Given the description of an element on the screen output the (x, y) to click on. 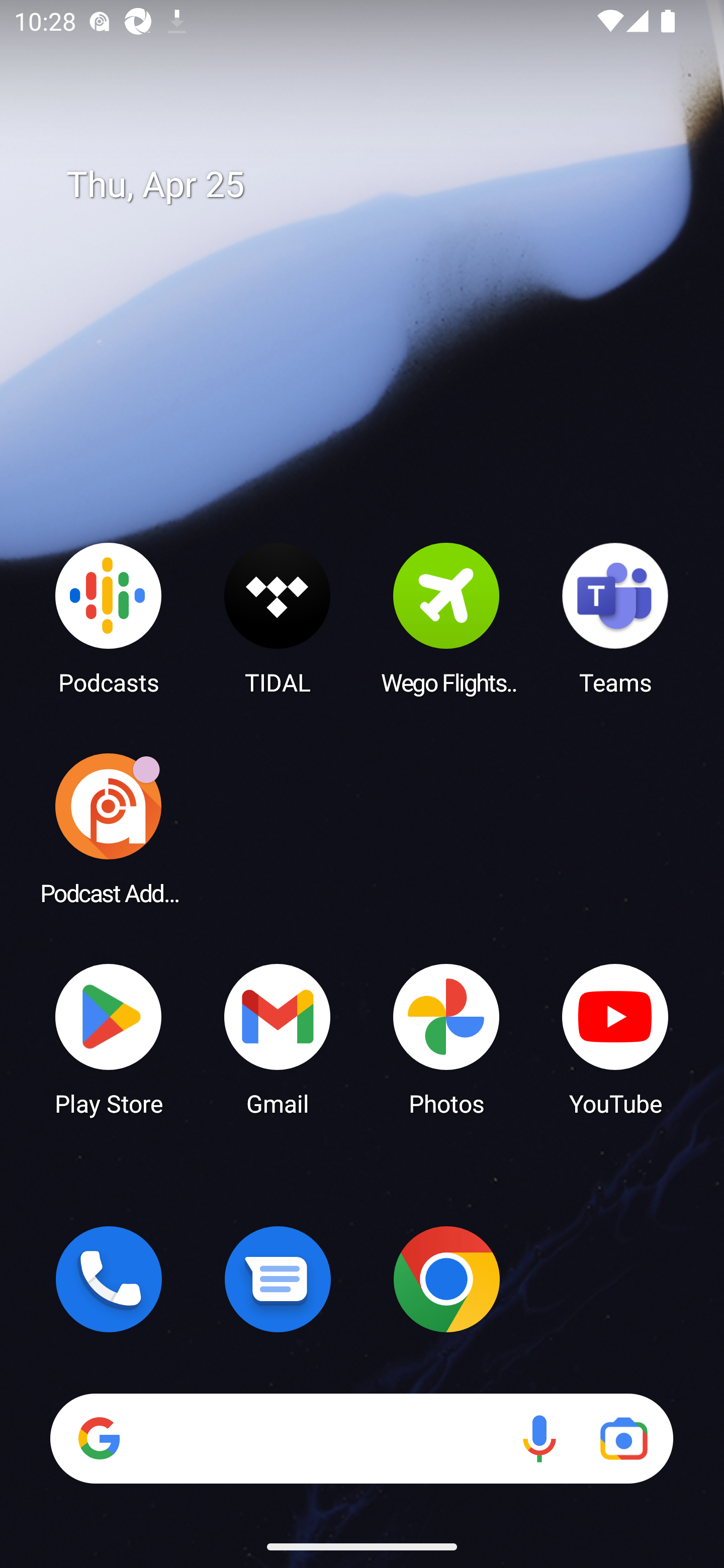
Thu, Apr 25 (375, 184)
Podcasts (108, 617)
TIDAL (277, 617)
Wego Flights & Hotels (445, 617)
Teams (615, 617)
Play Store (108, 1038)
Gmail (277, 1038)
Photos (445, 1038)
YouTube (615, 1038)
Phone (108, 1279)
Messages (277, 1279)
Chrome (446, 1279)
Search Voice search Google Lens (361, 1438)
Voice search (539, 1438)
Google Lens (623, 1438)
